Given the description of an element on the screen output the (x, y) to click on. 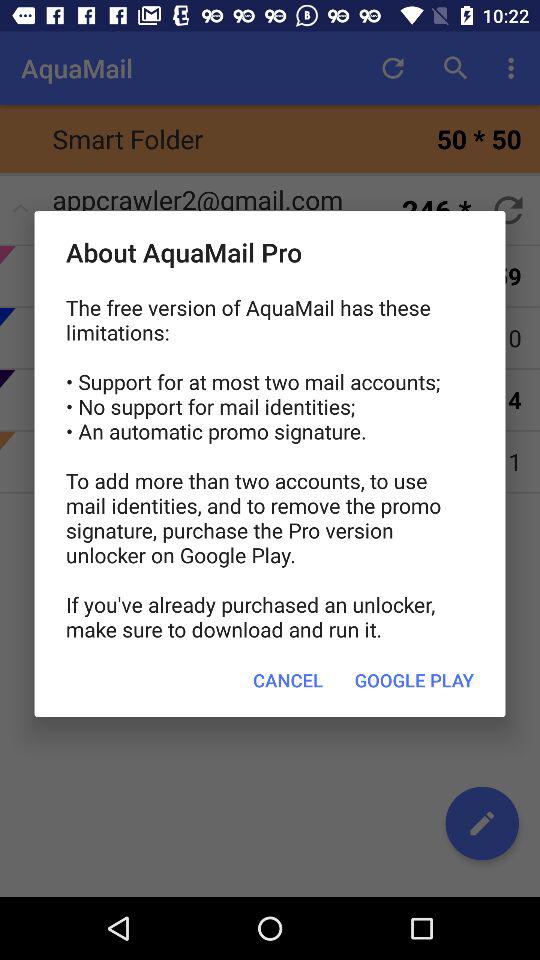
swipe until the google play button (413, 679)
